Given the description of an element on the screen output the (x, y) to click on. 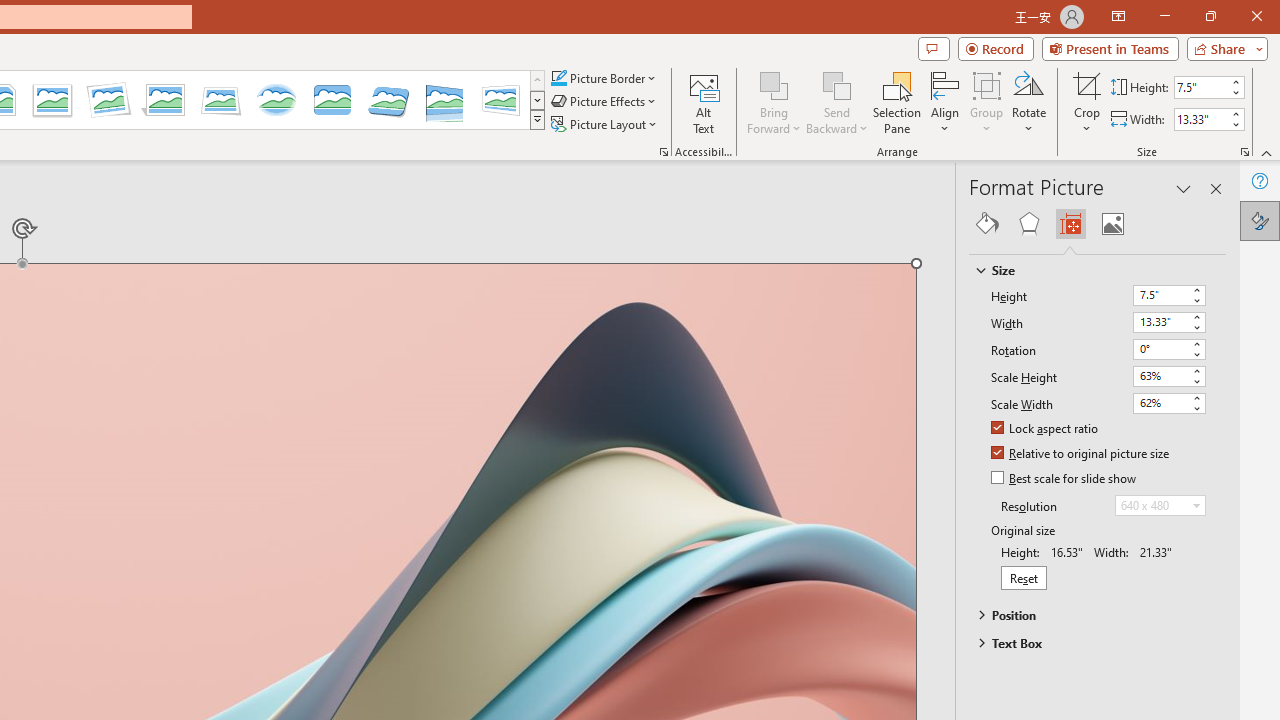
More (1235, 113)
Size (1088, 269)
Bevel Perspective (388, 100)
Rotation (1160, 348)
Group (987, 102)
Width (1168, 321)
Picture Effects (605, 101)
Picture (1112, 223)
Class: NetUIGalleryContainer (1098, 223)
Bevel Rectangle (332, 100)
Rotate (1028, 102)
Crop (1087, 84)
